Given the description of an element on the screen output the (x, y) to click on. 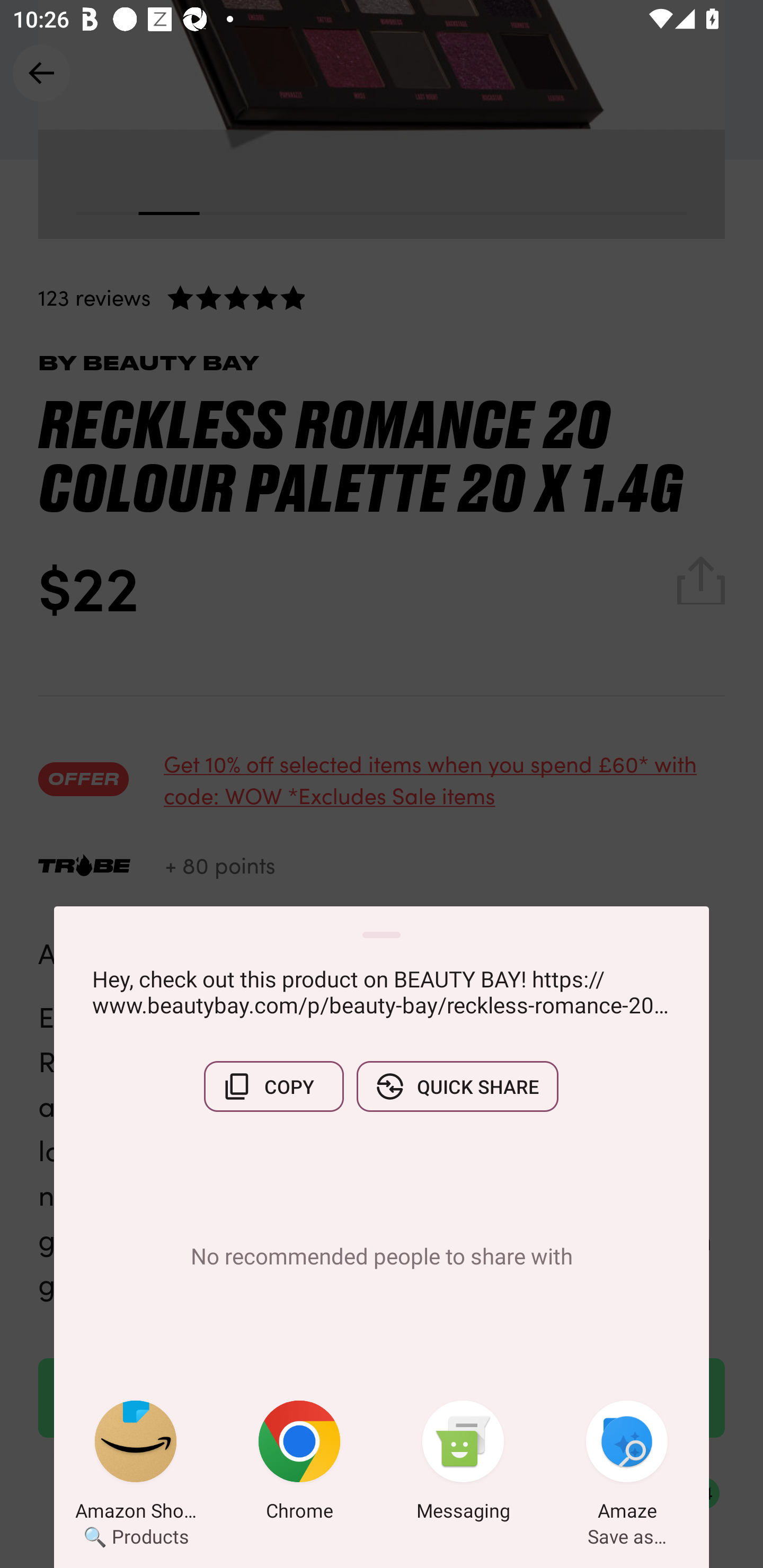
COPY (273, 1086)
QUICK SHARE (457, 1086)
Amazon Shopping 🔍 Products (135, 1463)
Chrome (299, 1463)
Messaging (463, 1463)
Amaze Save as… (626, 1463)
